Given the description of an element on the screen output the (x, y) to click on. 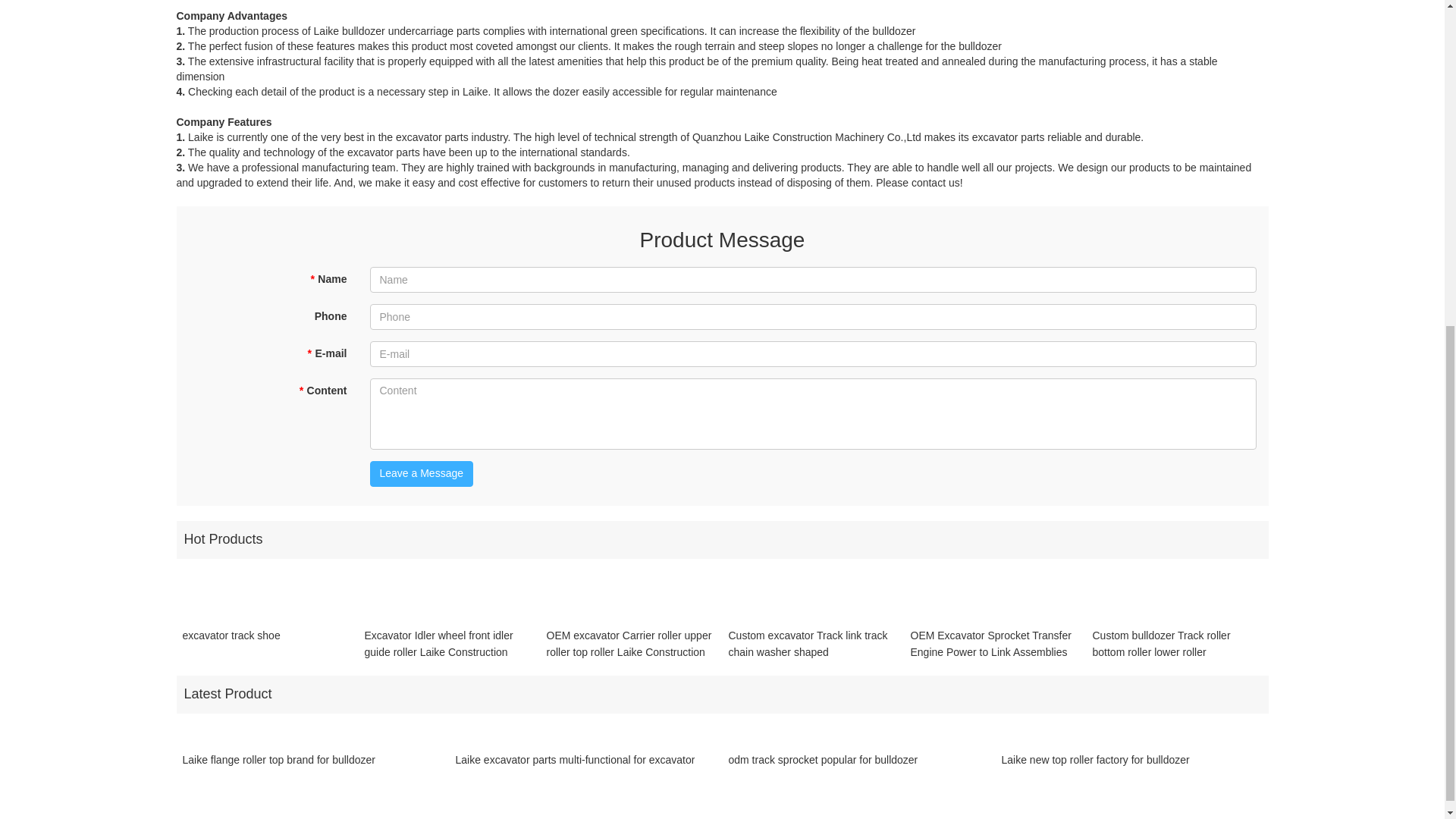
Laike excavator parts multi-functional for excavator (574, 767)
Leave a Message (421, 473)
Custom bulldozer Track roller bottom roller lower roller (1177, 643)
Custom excavator Track link track chain washer shaped (813, 643)
odm track sprocket popular for bulldozer (822, 767)
excavator track shoe (230, 643)
excavator track shoe (230, 643)
Custom excavator Track link track chain washer shaped (813, 643)
Custom bulldozer Track roller bottom roller lower roller (1177, 643)
Laike flange roller top brand for bulldozer (278, 767)
